Given the description of an element on the screen output the (x, y) to click on. 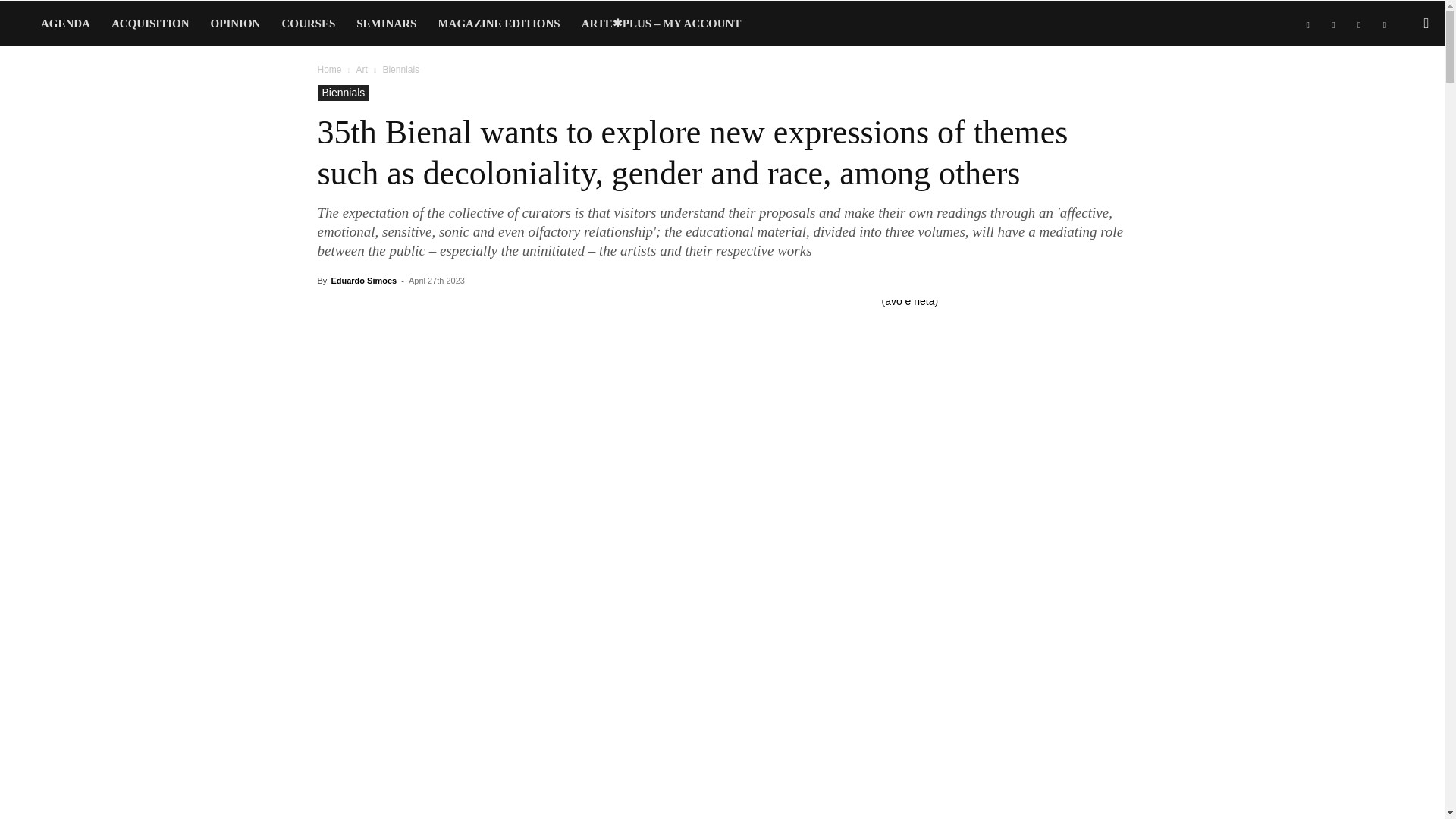
MAGAZINE EDITIONS (498, 22)
See all articles in Art (360, 69)
SEMINARS (386, 22)
AGENDA (65, 22)
OPINION (235, 22)
Biennials (343, 92)
Home (328, 69)
Search (1395, 88)
ACQUISITION (150, 22)
COURSES (308, 22)
